Given the description of an element on the screen output the (x, y) to click on. 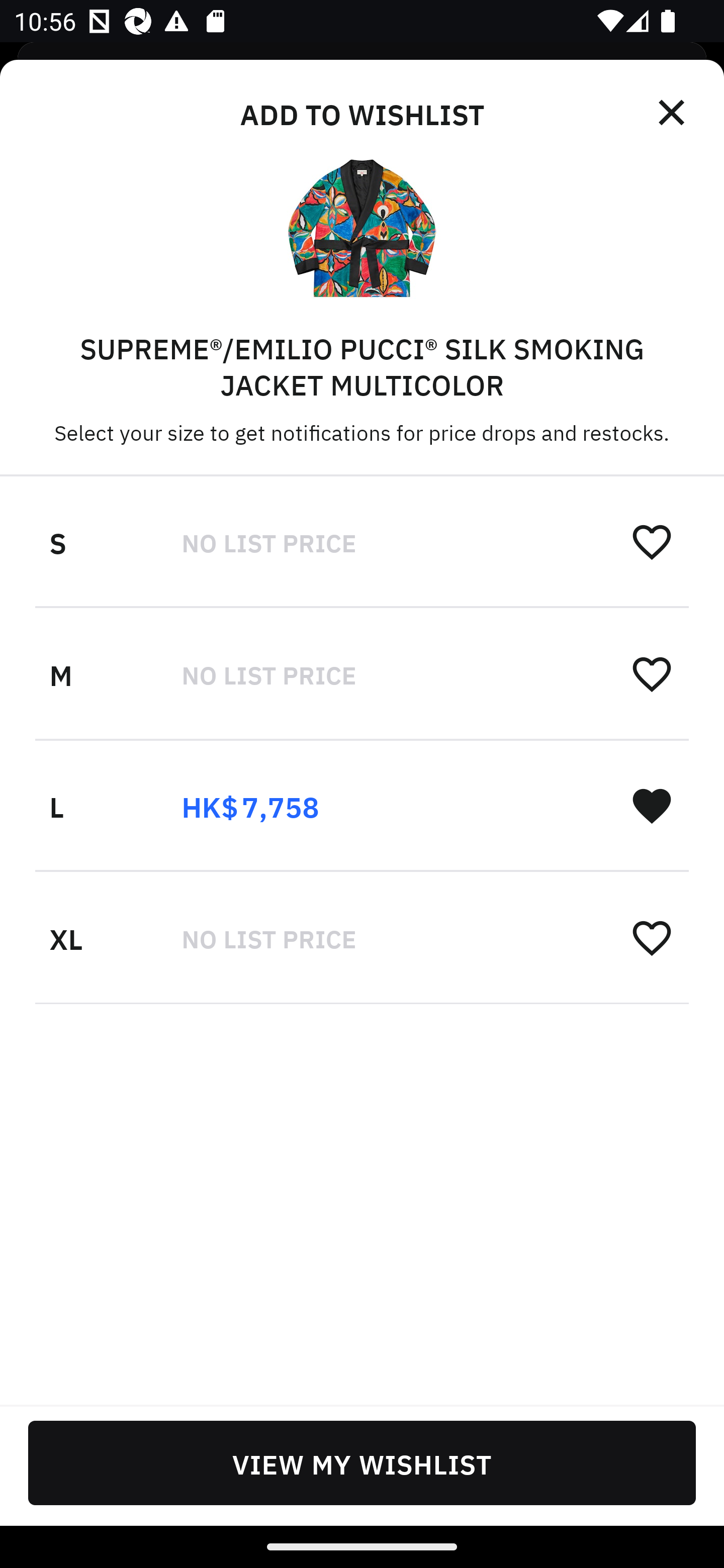
 (672, 112)
󰋕 (651, 541)
󰋕 (651, 673)
󰋑 (651, 804)
󰋕 (651, 936)
VIEW MY WISHLIST (361, 1462)
